Given the description of an element on the screen output the (x, y) to click on. 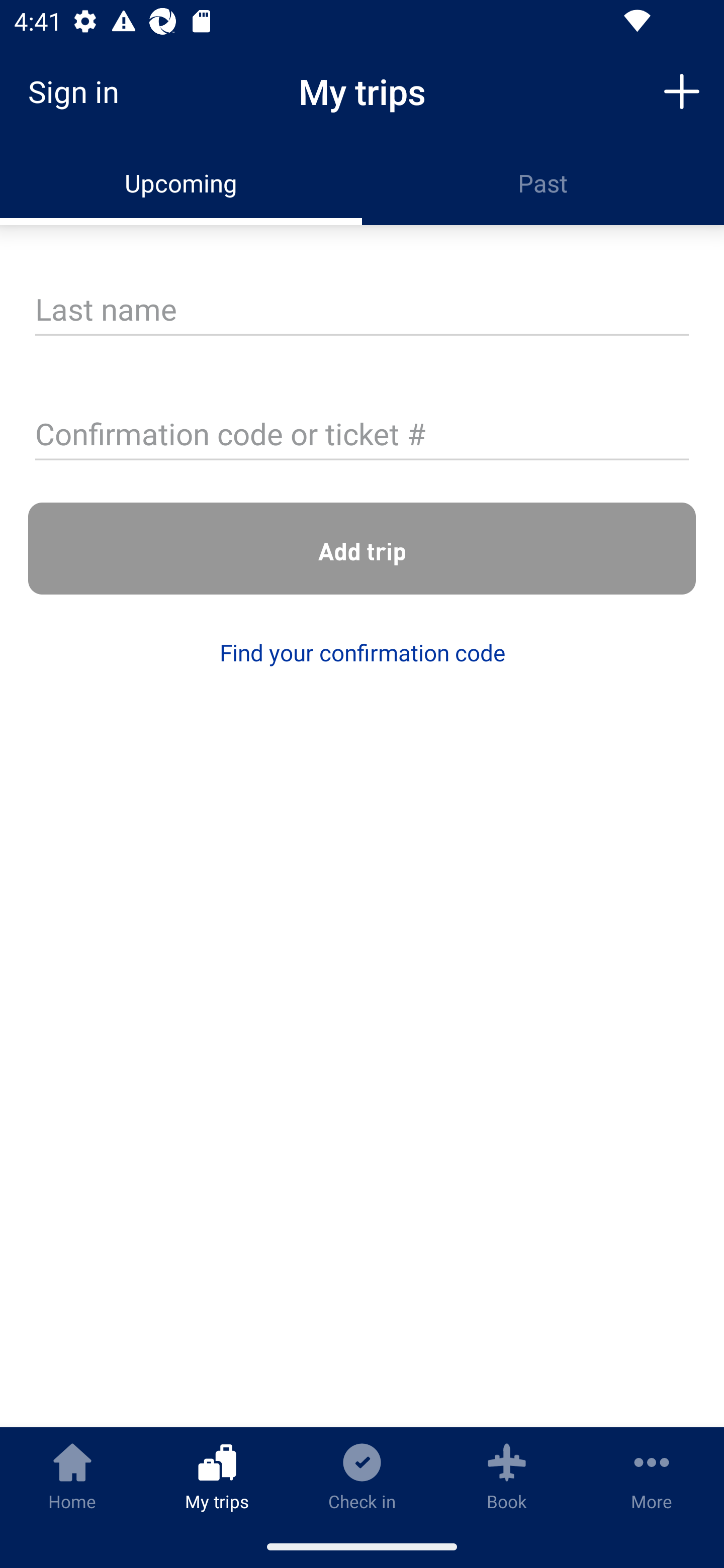
Sign in (80, 91)
Add trip (681, 90)
Past (543, 183)
Last name (361, 310)
Confirmation code or ticket # (361, 435)
Add trip (361, 548)
Home (72, 1475)
Check in (361, 1475)
Book (506, 1475)
More (651, 1475)
